Given the description of an element on the screen output the (x, y) to click on. 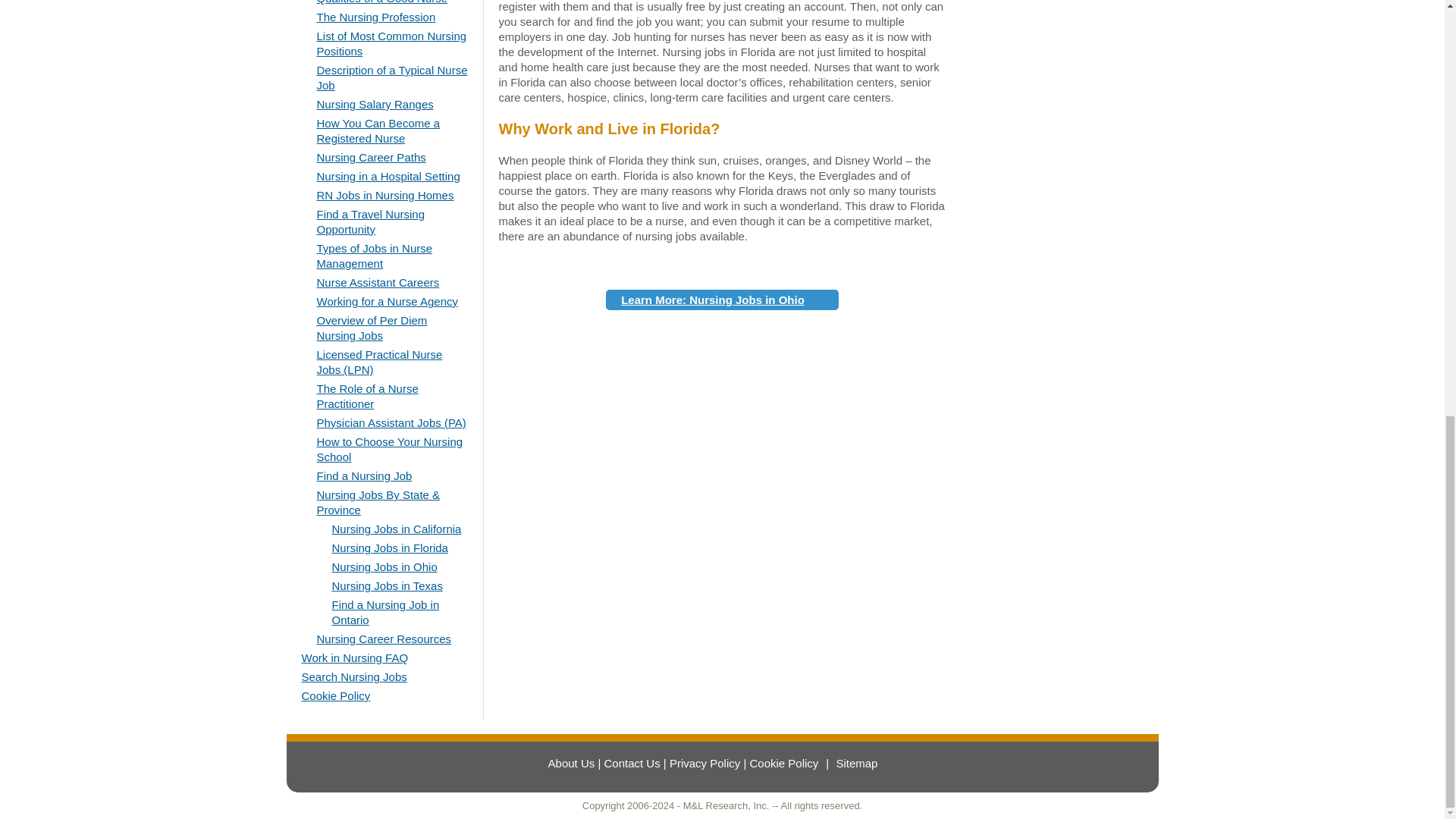
Nursing Salary Ranges (375, 103)
The Nursing Profession (376, 16)
Qualities of a Good Nurse (382, 2)
Learn More: Nursing Jobs in Ohio (721, 299)
How You Can Become a Registered Nurse (379, 130)
Description of a Typical Nurse Job (392, 77)
List of Most Common Nursing Positions (392, 43)
